Given the description of an element on the screen output the (x, y) to click on. 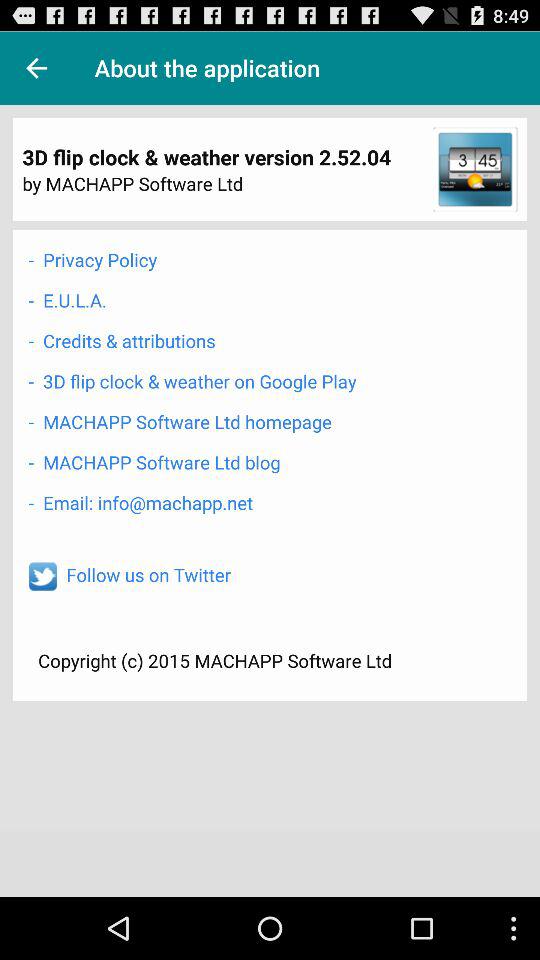
open item above the -  credits & attributions item (67, 300)
